Given the description of an element on the screen output the (x, y) to click on. 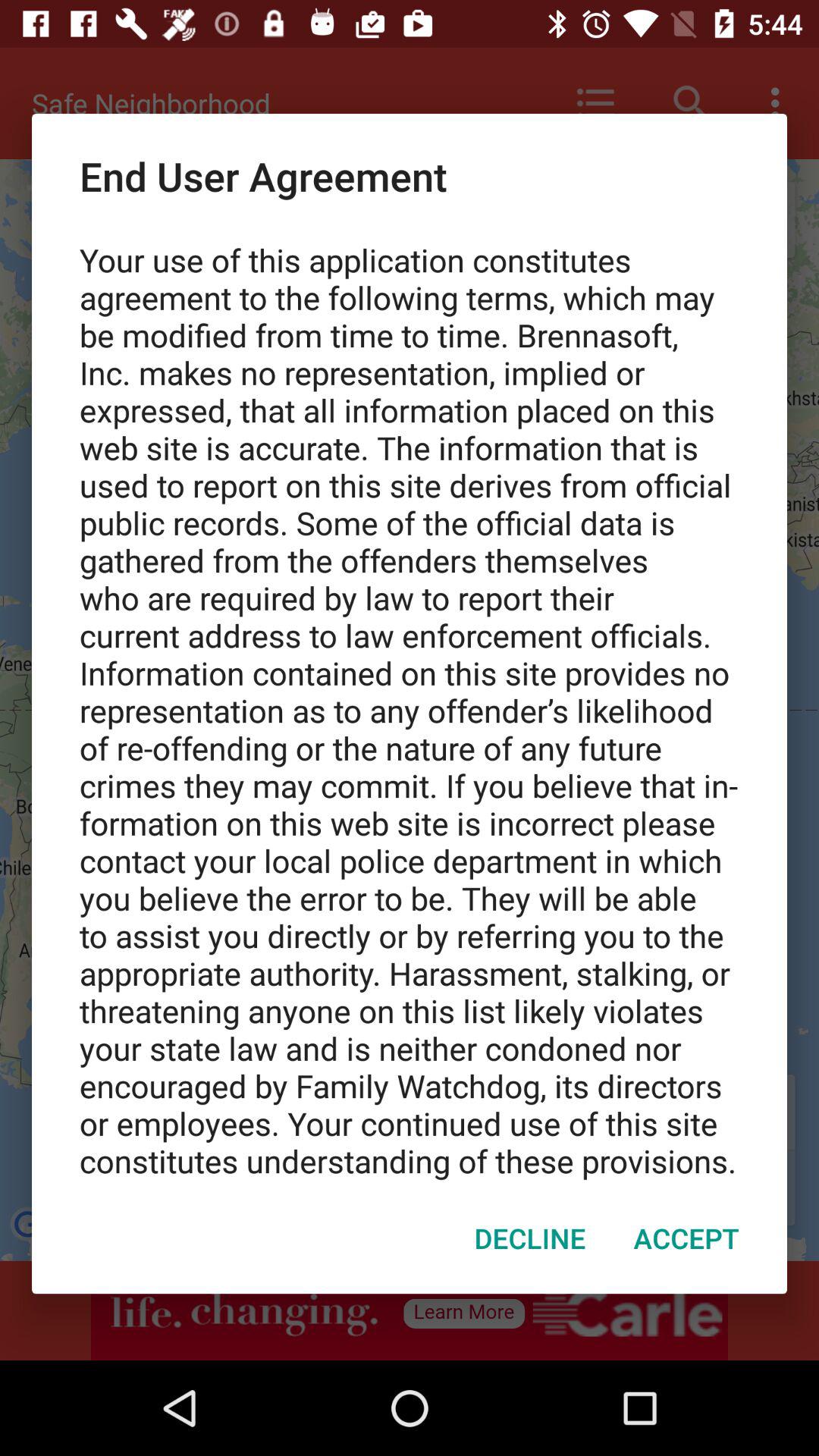
launch the item at the bottom (529, 1237)
